Given the description of an element on the screen output the (x, y) to click on. 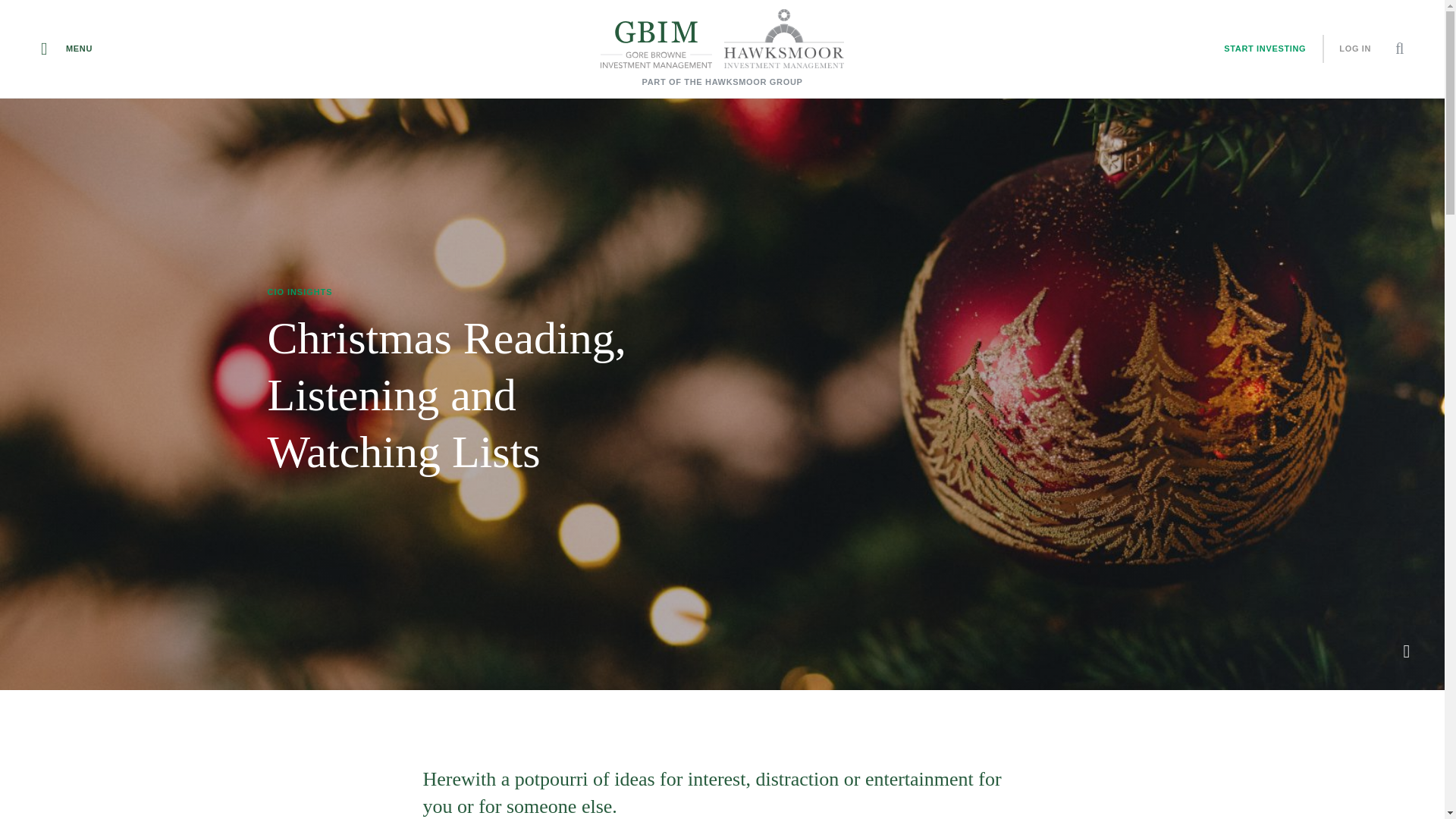
CIO INSIGHTS (298, 291)
LOG IN (1358, 49)
START INVESTING (1264, 49)
